Given the description of an element on the screen output the (x, y) to click on. 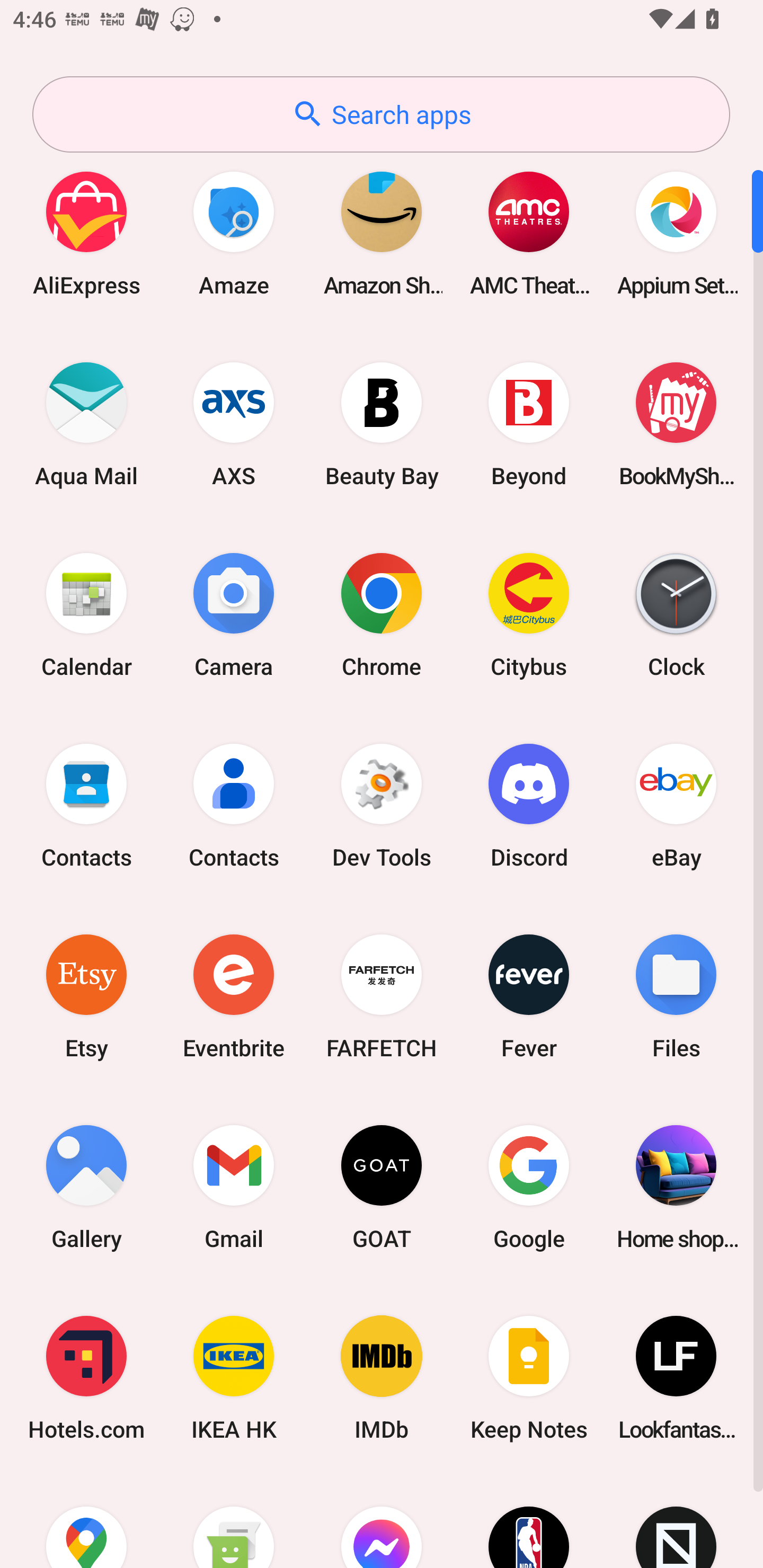
  Search apps (381, 114)
AliExpress (86, 233)
Amaze (233, 233)
Amazon Shopping (381, 233)
AMC Theatres (528, 233)
Appium Settings (676, 233)
Aqua Mail (86, 424)
AXS (233, 424)
Beauty Bay (381, 424)
Beyond (528, 424)
BookMyShow (676, 424)
Calendar (86, 614)
Camera (233, 614)
Chrome (381, 614)
Citybus (528, 614)
Clock (676, 614)
Contacts (86, 805)
Contacts (233, 805)
Dev Tools (381, 805)
Discord (528, 805)
eBay (676, 805)
Etsy (86, 996)
Eventbrite (233, 996)
FARFETCH (381, 996)
Fever (528, 996)
Files (676, 996)
Gallery (86, 1186)
Gmail (233, 1186)
GOAT (381, 1186)
Google (528, 1186)
Home shopping (676, 1186)
Hotels.com (86, 1377)
IKEA HK (233, 1377)
IMDb (381, 1377)
Keep Notes (528, 1377)
Lookfantastic (676, 1377)
Maps (86, 1520)
Messaging (233, 1520)
Messenger (381, 1520)
NBA (528, 1520)
Novelship (676, 1520)
